Given the description of an element on the screen output the (x, y) to click on. 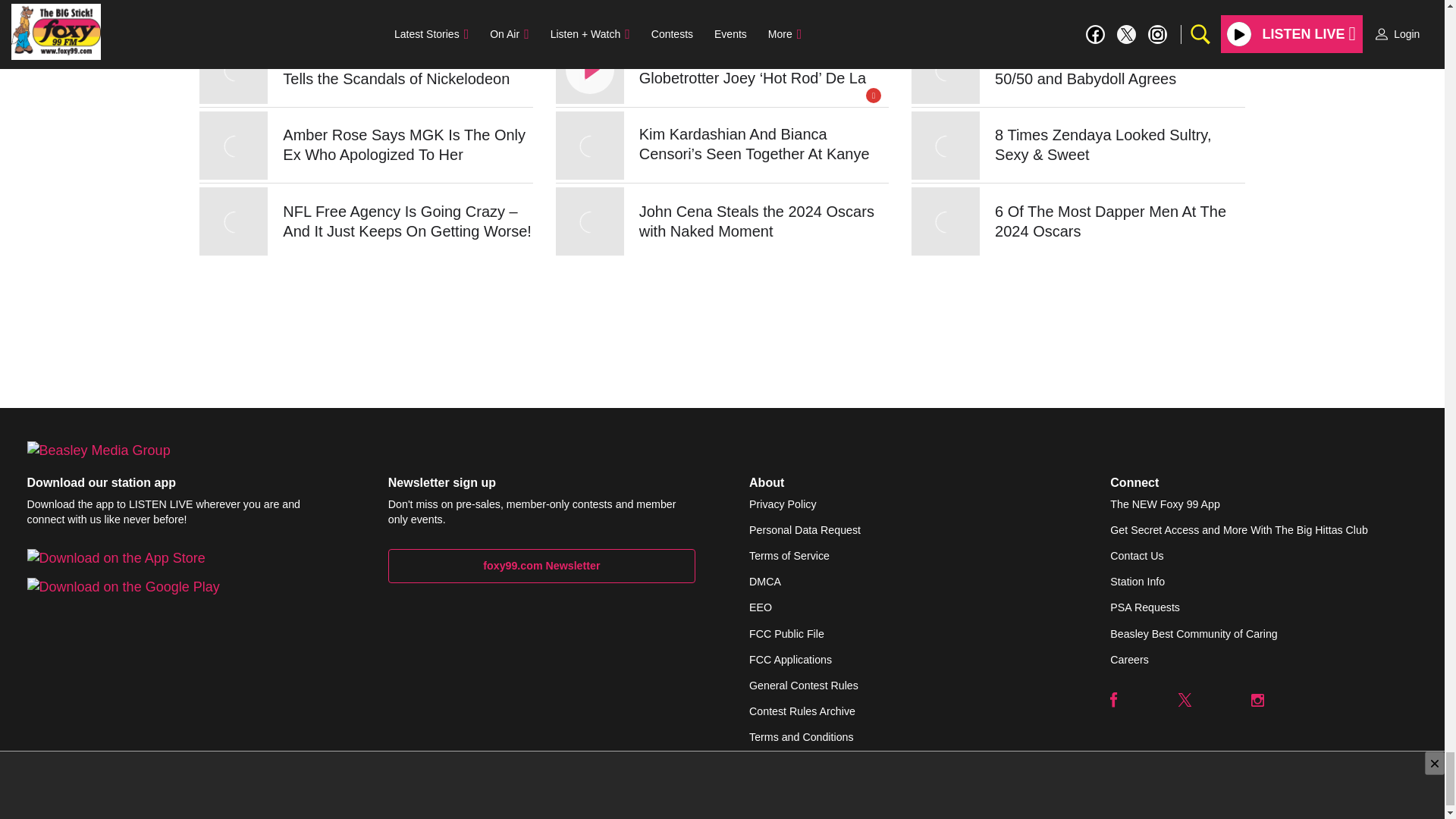
Twitter (1184, 699)
Instagram (1256, 699)
